Given the description of an element on the screen output the (x, y) to click on. 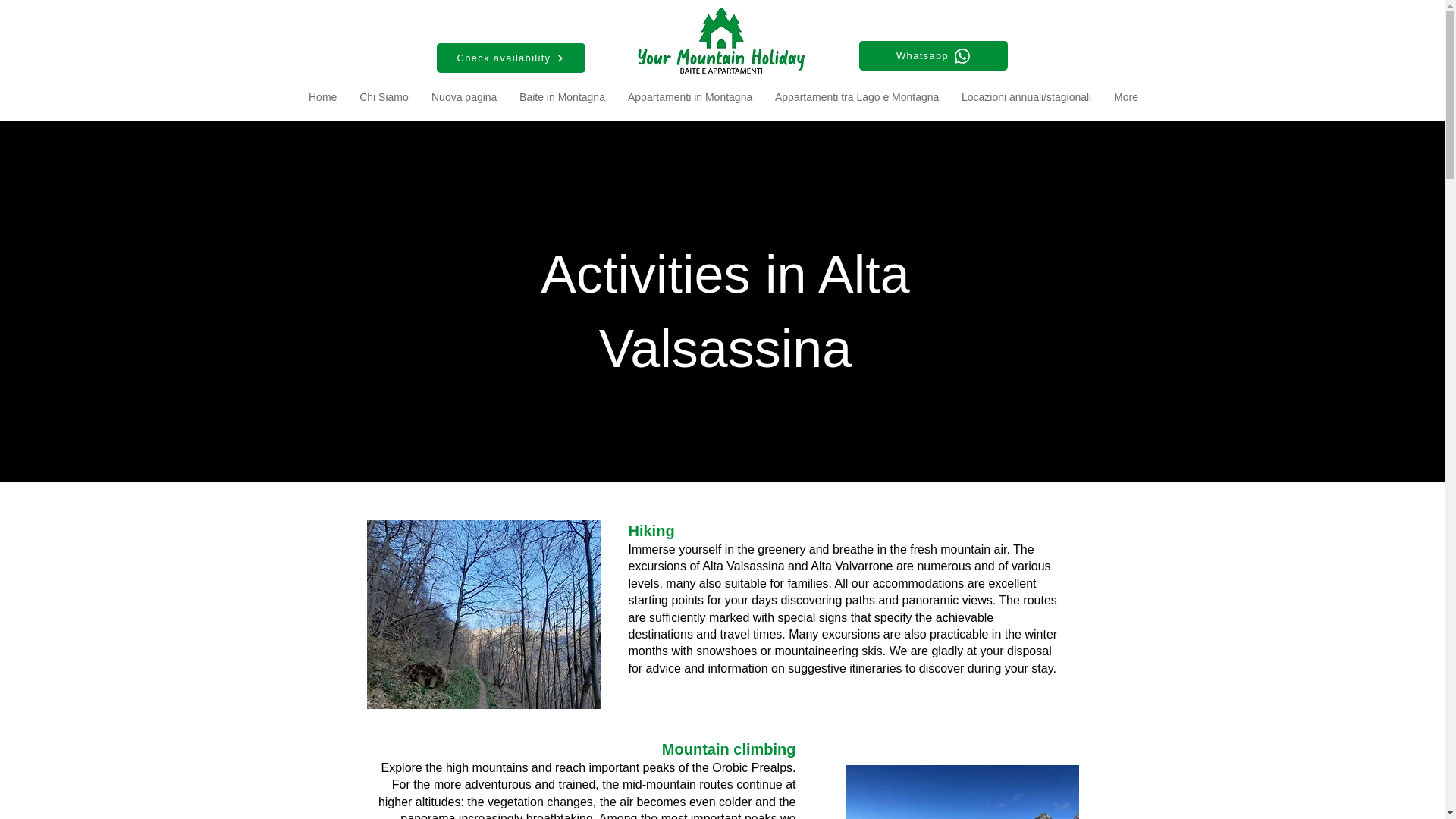
Home (322, 97)
Chi Siamo (383, 97)
Appartamenti in Montagna (688, 97)
Appartamenti tra Lago e Montagna (856, 97)
Whatsapp (933, 55)
Baite in Montagna (561, 97)
Nuova pagina (464, 97)
Check availability (510, 57)
